Given the description of an element on the screen output the (x, y) to click on. 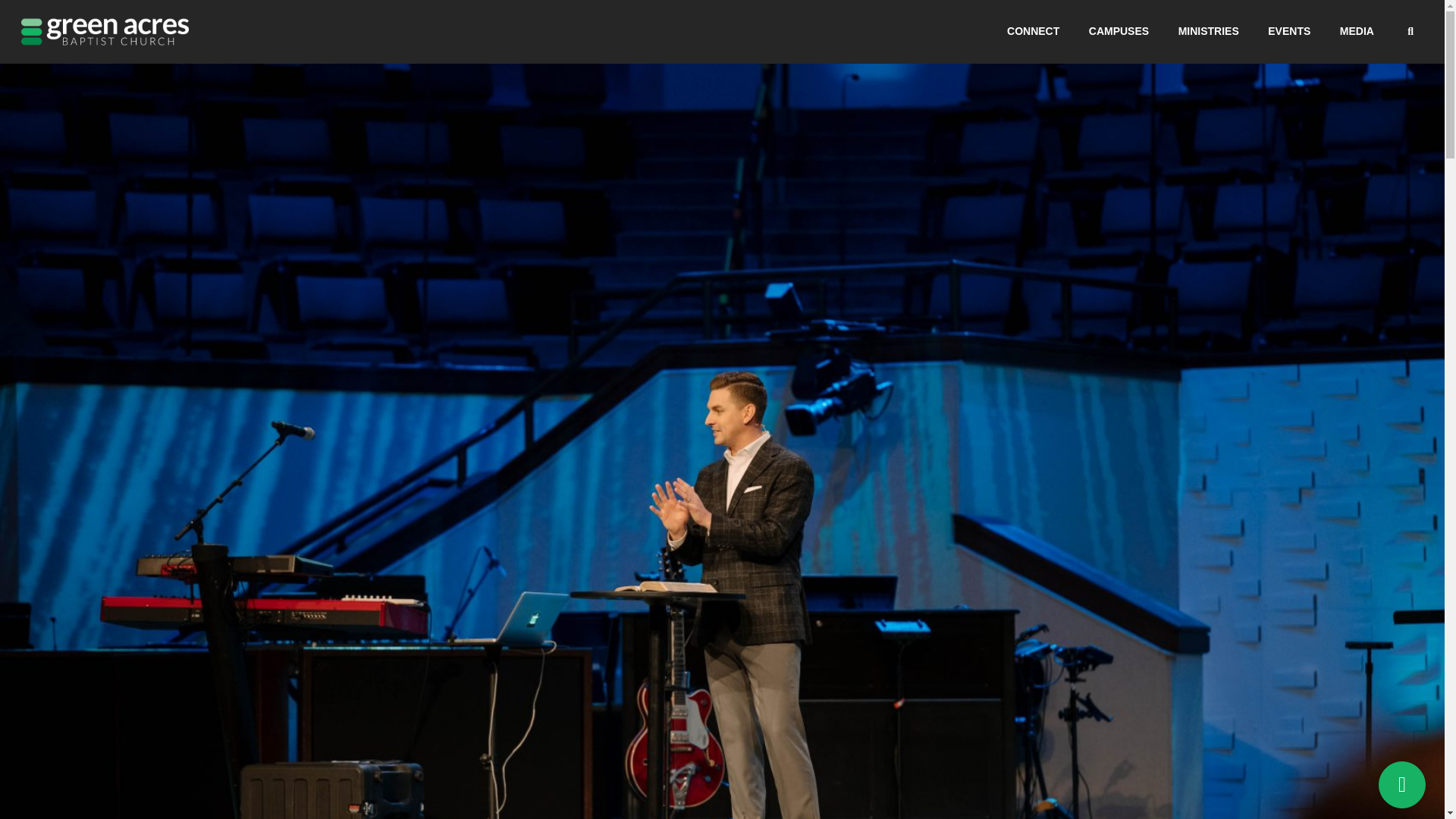
CAMPUSES (1118, 31)
EVENTS (1289, 31)
CONNECT (1032, 31)
MINISTRIES (1208, 31)
MEDIA (1356, 31)
